Given the description of an element on the screen output the (x, y) to click on. 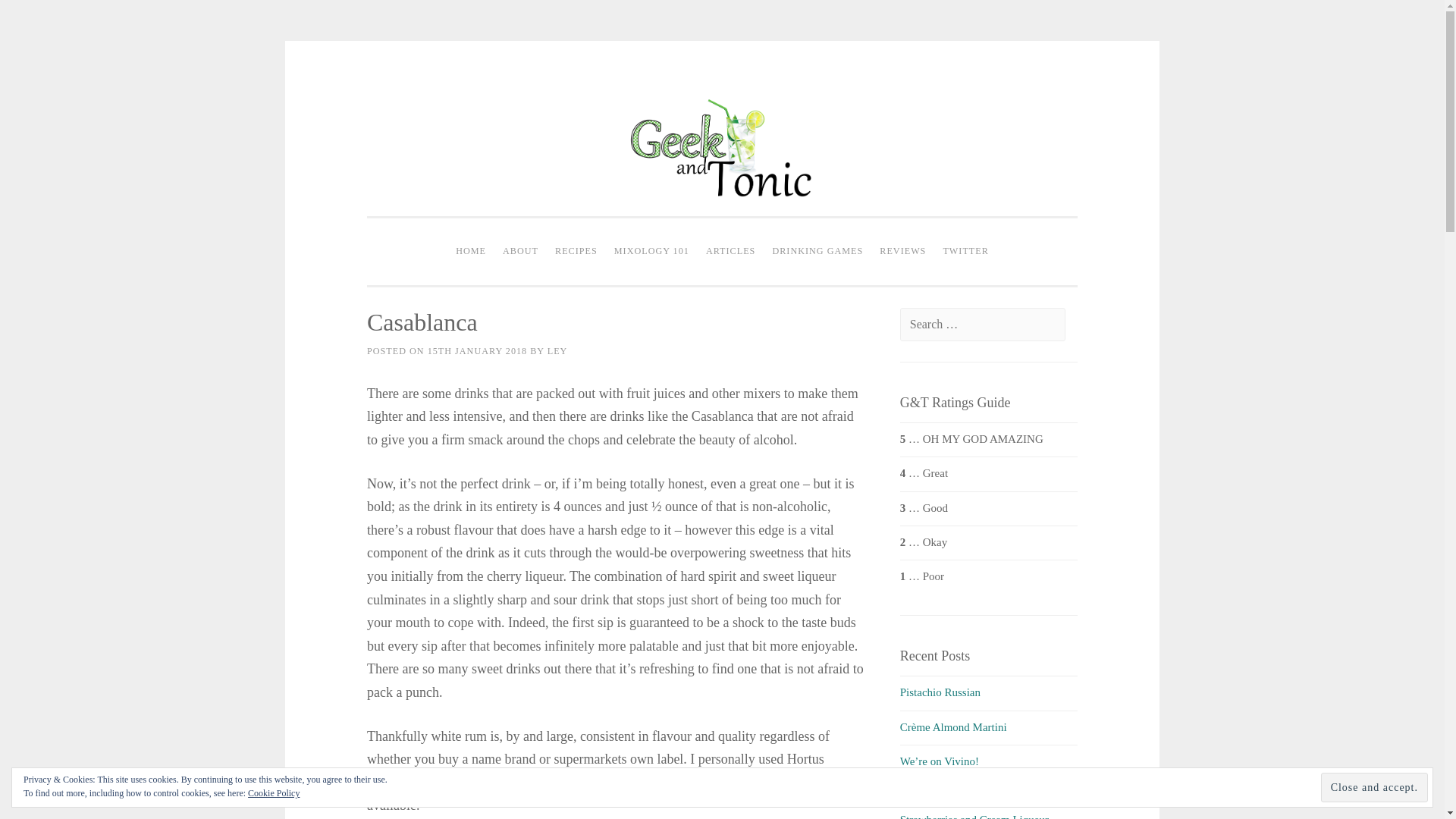
ARTICLES (729, 251)
Geek and Tonic (721, 229)
RECIPES (576, 251)
DRINKING GAMES (817, 251)
15TH JANUARY 2018 (477, 350)
LEY (557, 350)
REVIEWS (902, 251)
Close and accept. (1374, 787)
ABOUT (520, 251)
